Given the description of an element on the screen output the (x, y) to click on. 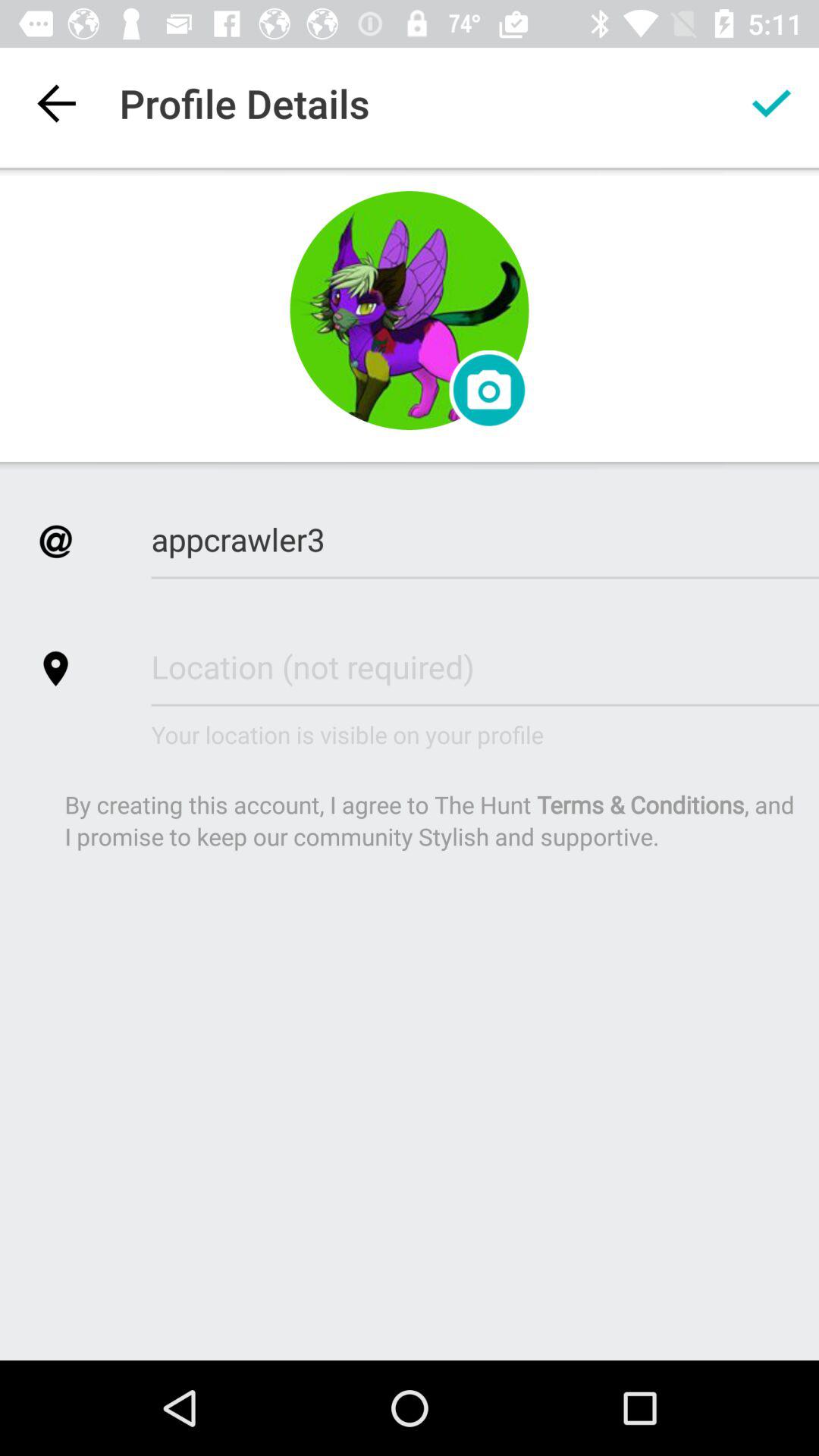
verify profile (771, 103)
